Given the description of an element on the screen output the (x, y) to click on. 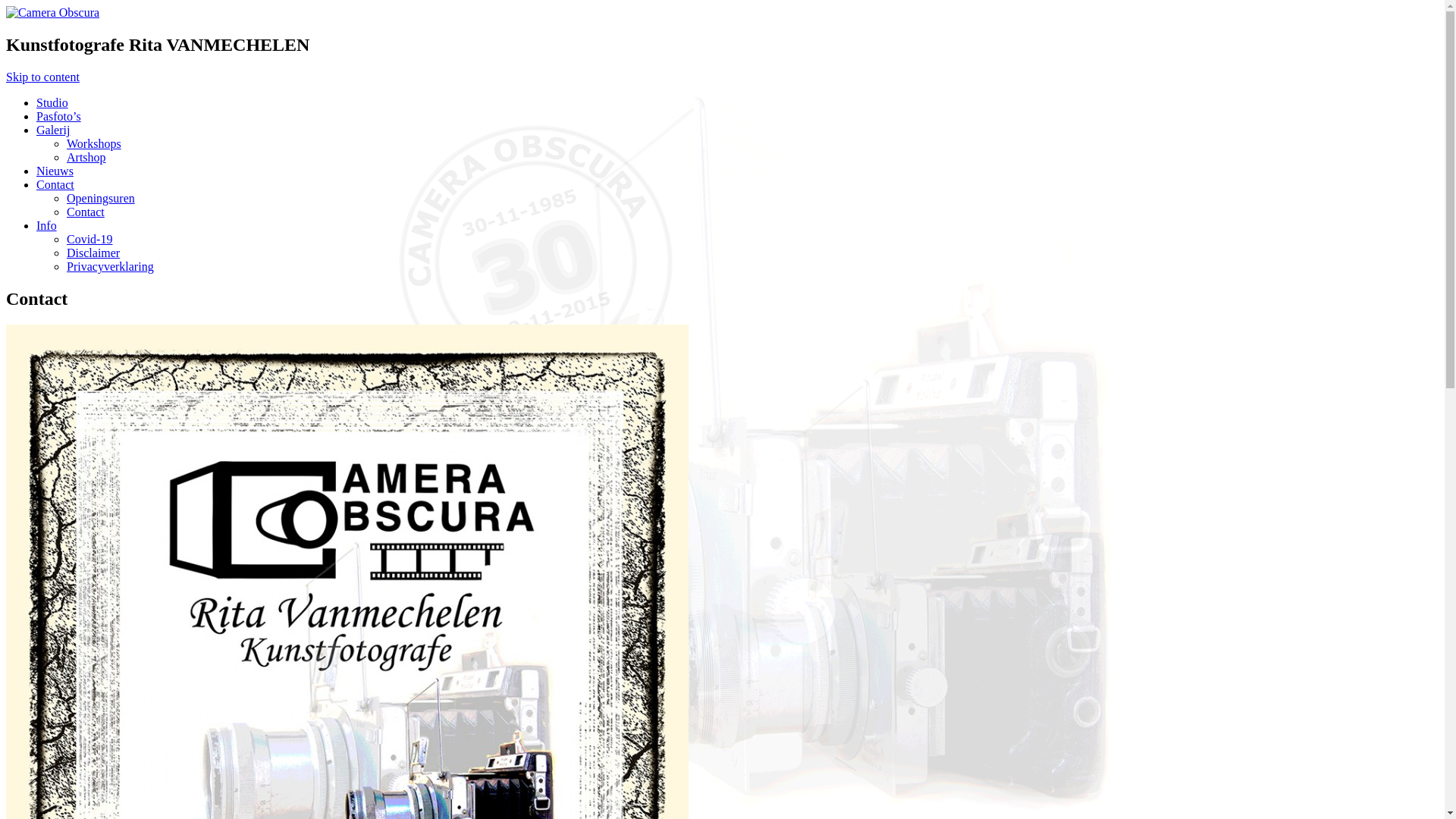
Disclaimer Element type: text (92, 252)
Contact Element type: text (85, 211)
Openingsuren Element type: text (100, 197)
Info Element type: text (46, 225)
Skip to content Element type: text (42, 76)
Camera Obscura Element type: hover (52, 12)
Studio Element type: text (52, 102)
Artshop Element type: text (86, 156)
Contact Element type: text (55, 184)
Nieuws Element type: text (54, 170)
Workshops Element type: text (93, 143)
Covid-19 Element type: text (89, 238)
Galerij Element type: text (52, 129)
Privacyverklaring Element type: text (109, 266)
